Given the description of an element on the screen output the (x, y) to click on. 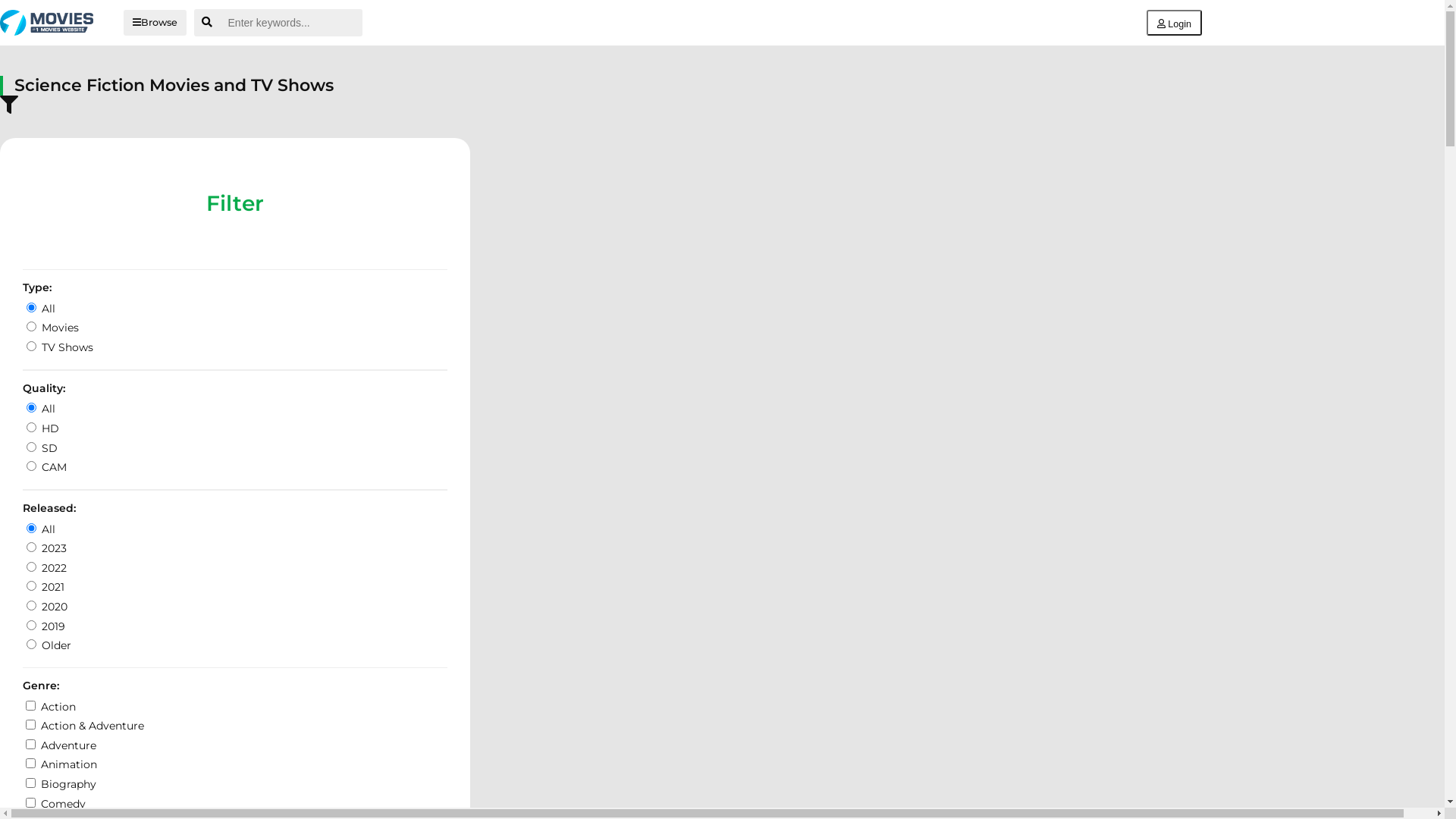
1moviestv Element type: hover (50, 22)
Login Element type: text (1173, 22)
